Given the description of an element on the screen output the (x, y) to click on. 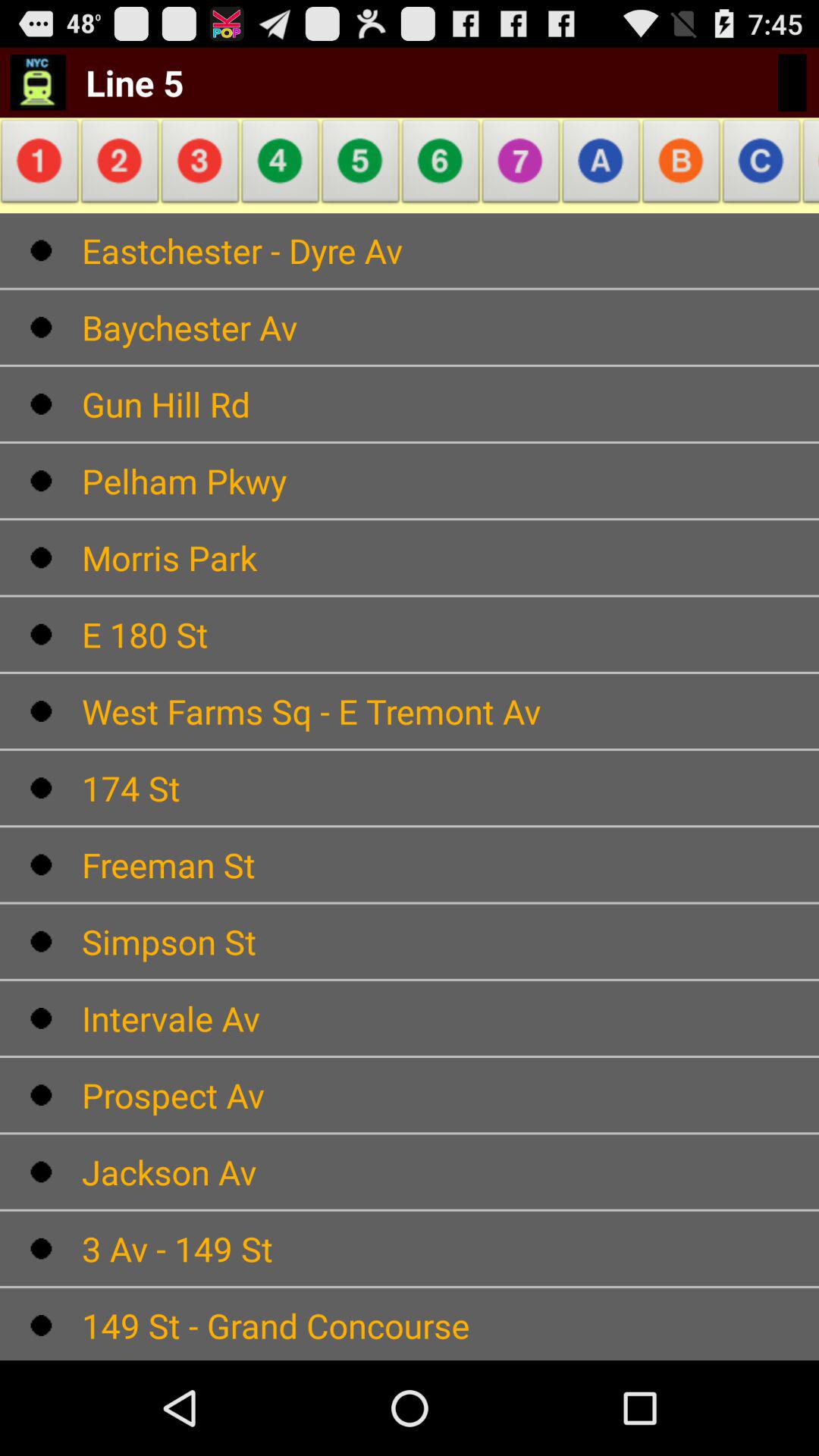
press the icon above eastchester - dyre av icon (280, 165)
